Given the description of an element on the screen output the (x, y) to click on. 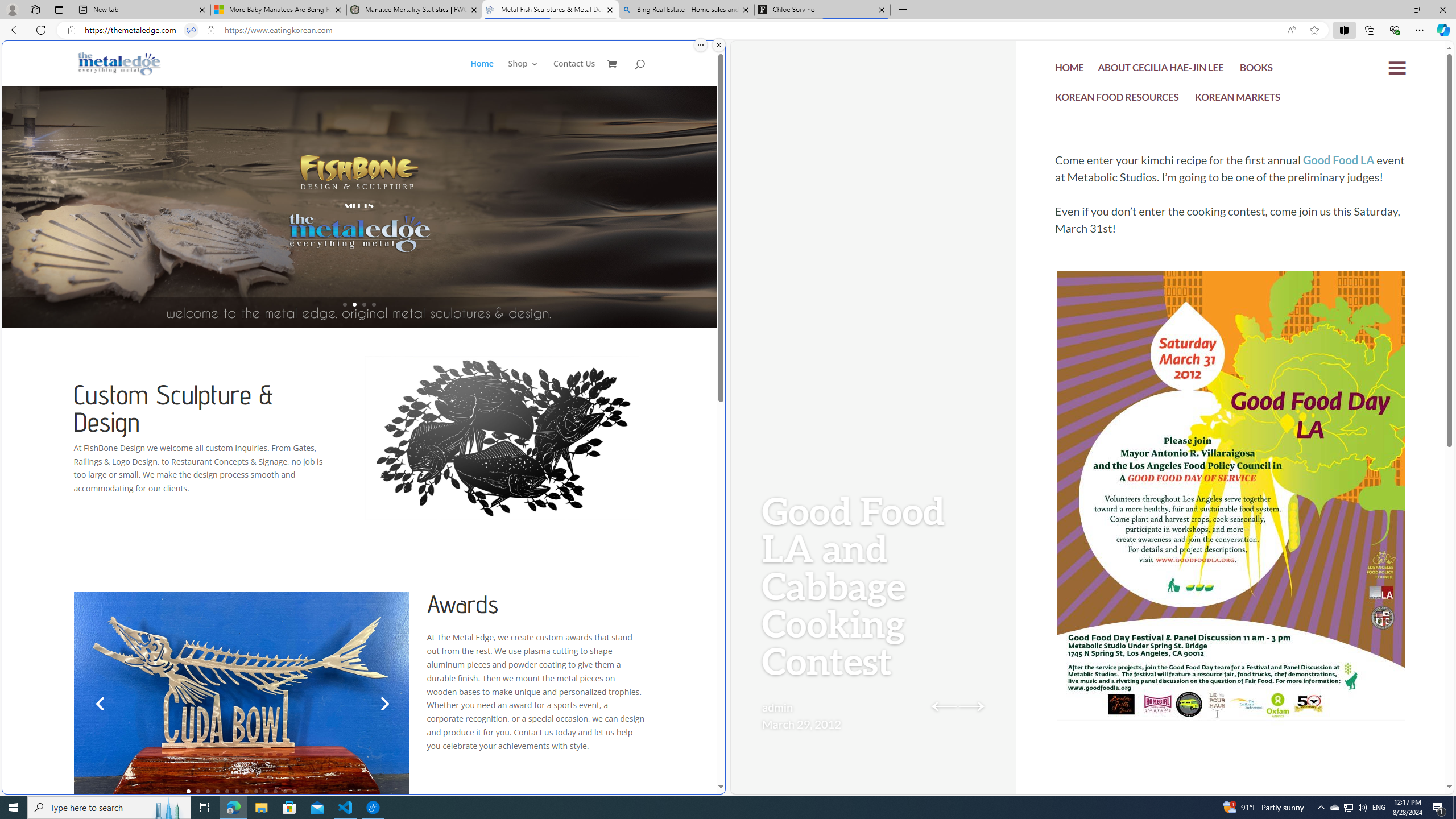
3 (207, 790)
Shop 3 (523, 72)
ABOUT CECILIA HAE-JIN LEE (1160, 68)
